Given the description of an element on the screen output the (x, y) to click on. 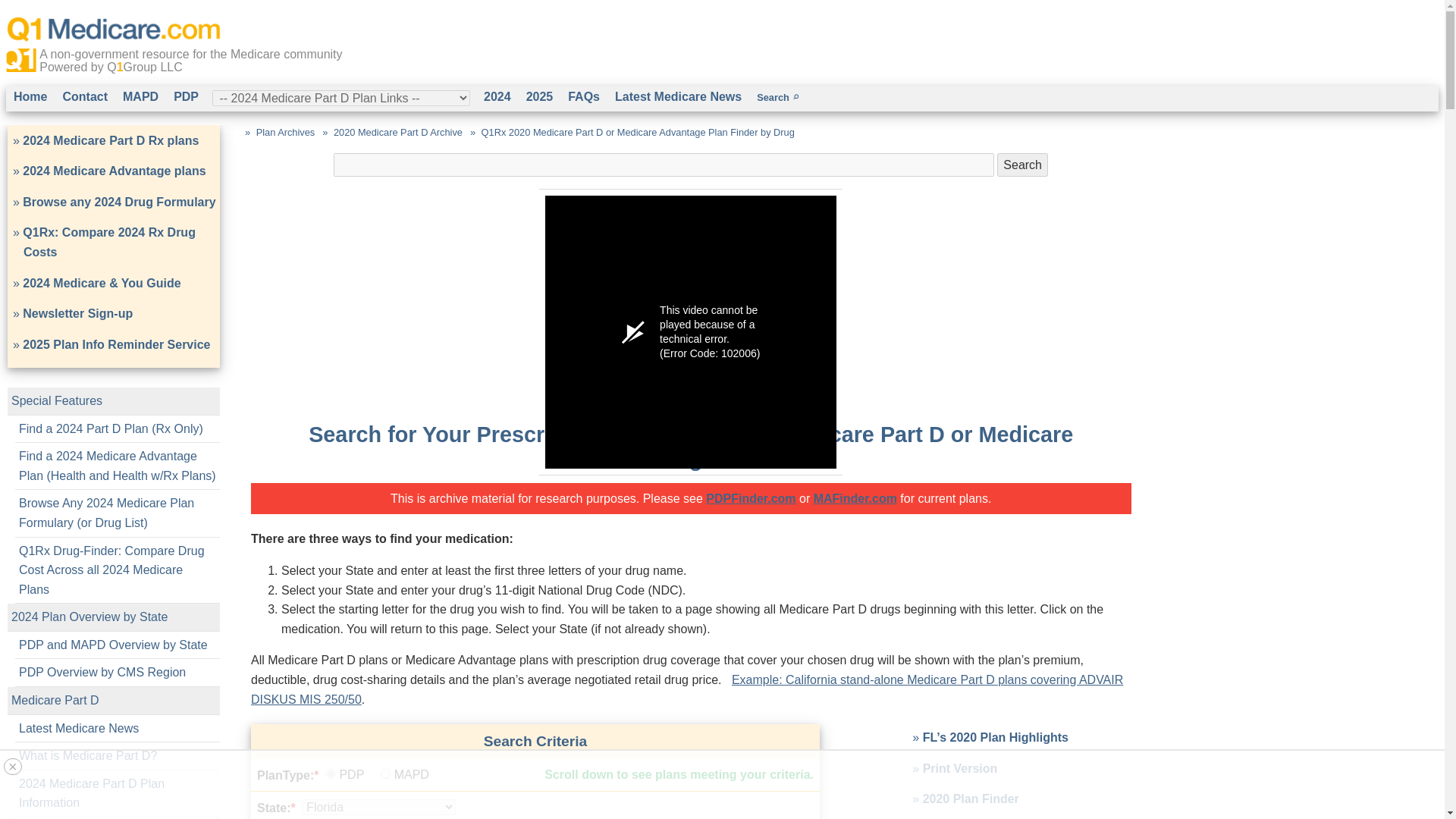
2024 Medicare Advantage Plans (140, 96)
P (331, 773)
2024 Medicare Part D Program Information and Links (497, 96)
2024 Medicare Advantage plans (114, 170)
Browse any 2024 Drug Formulary (119, 201)
2025 (539, 96)
Special Features (56, 400)
M (385, 773)
Q1Rx: Compare 2024 Rx Drug Costs (109, 242)
Ask a Question about Medicare Part D (85, 96)
Questions and Answers on Medicare Part D (583, 96)
FAQs (583, 96)
Medicare Part D Program and Plan Information Home (30, 96)
Q1Group LLC (144, 66)
Home (30, 96)
